Given the description of an element on the screen output the (x, y) to click on. 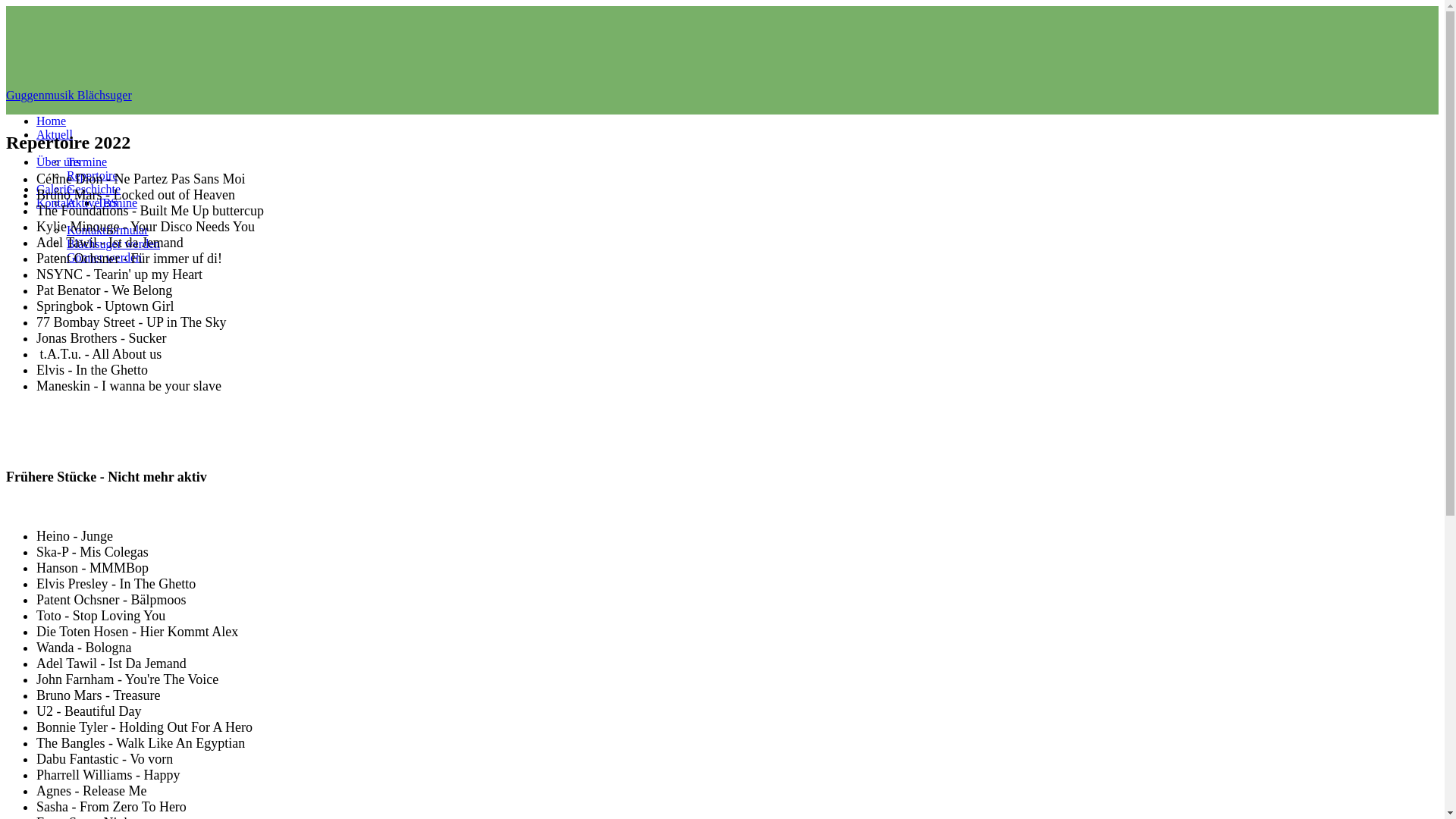
Aktive BS Element type: text (91, 202)
Geschichte Element type: text (93, 188)
Termine Element type: text (86, 161)
Termine Element type: text (117, 202)
Kontakt Element type: text (55, 202)
Home Element type: text (50, 120)
Aktuell Element type: text (54, 134)
Kontaktformular Element type: text (107, 229)
Repertoire Element type: text (92, 175)
Galerie Element type: text (54, 188)
